Given the description of an element on the screen output the (x, y) to click on. 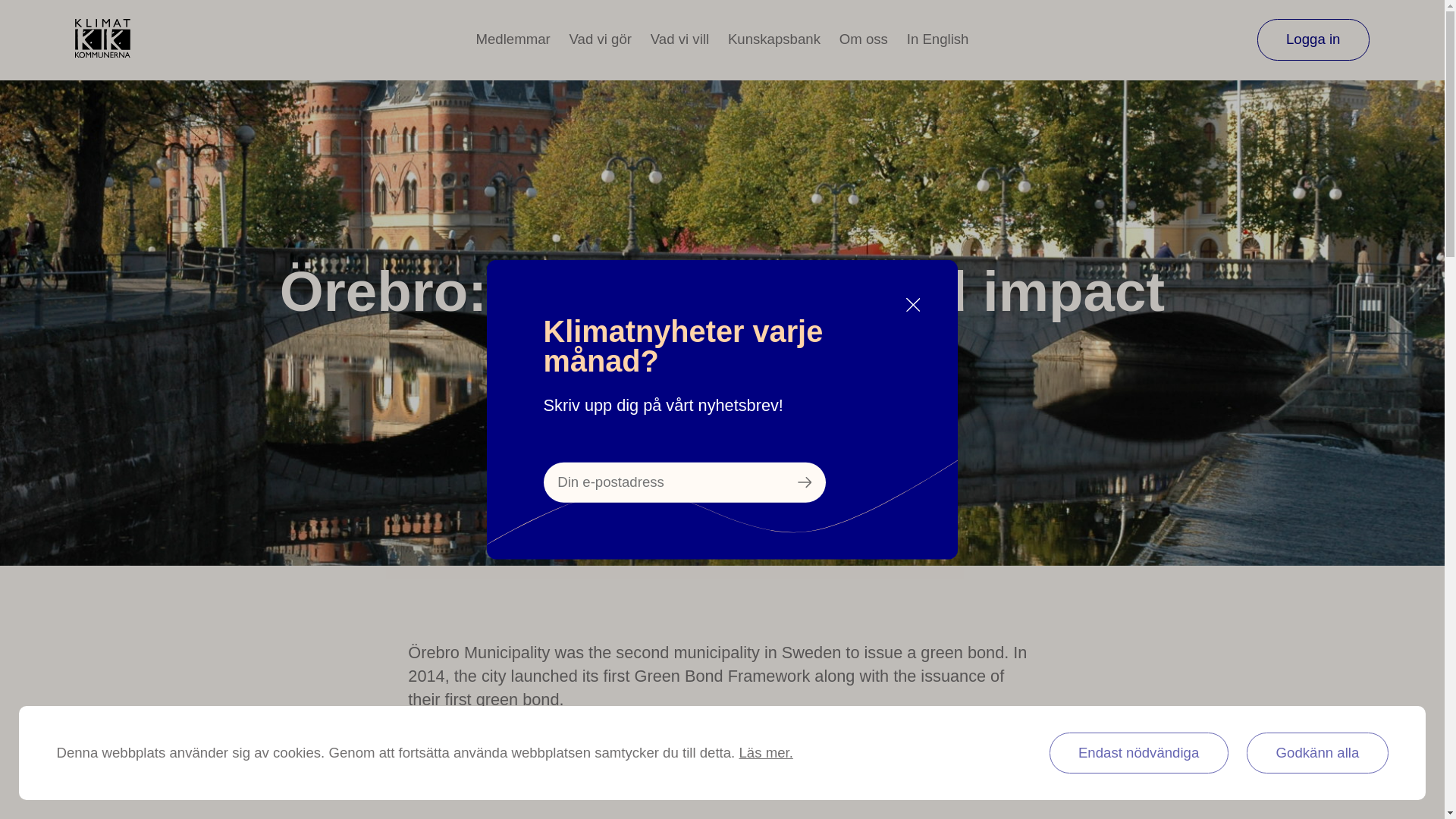
Vad vi vill (679, 38)
Logga in (1313, 39)
In English (938, 38)
Medlemmar (513, 38)
Om oss (864, 38)
Kunskapsbank (774, 38)
